Given the description of an element on the screen output the (x, y) to click on. 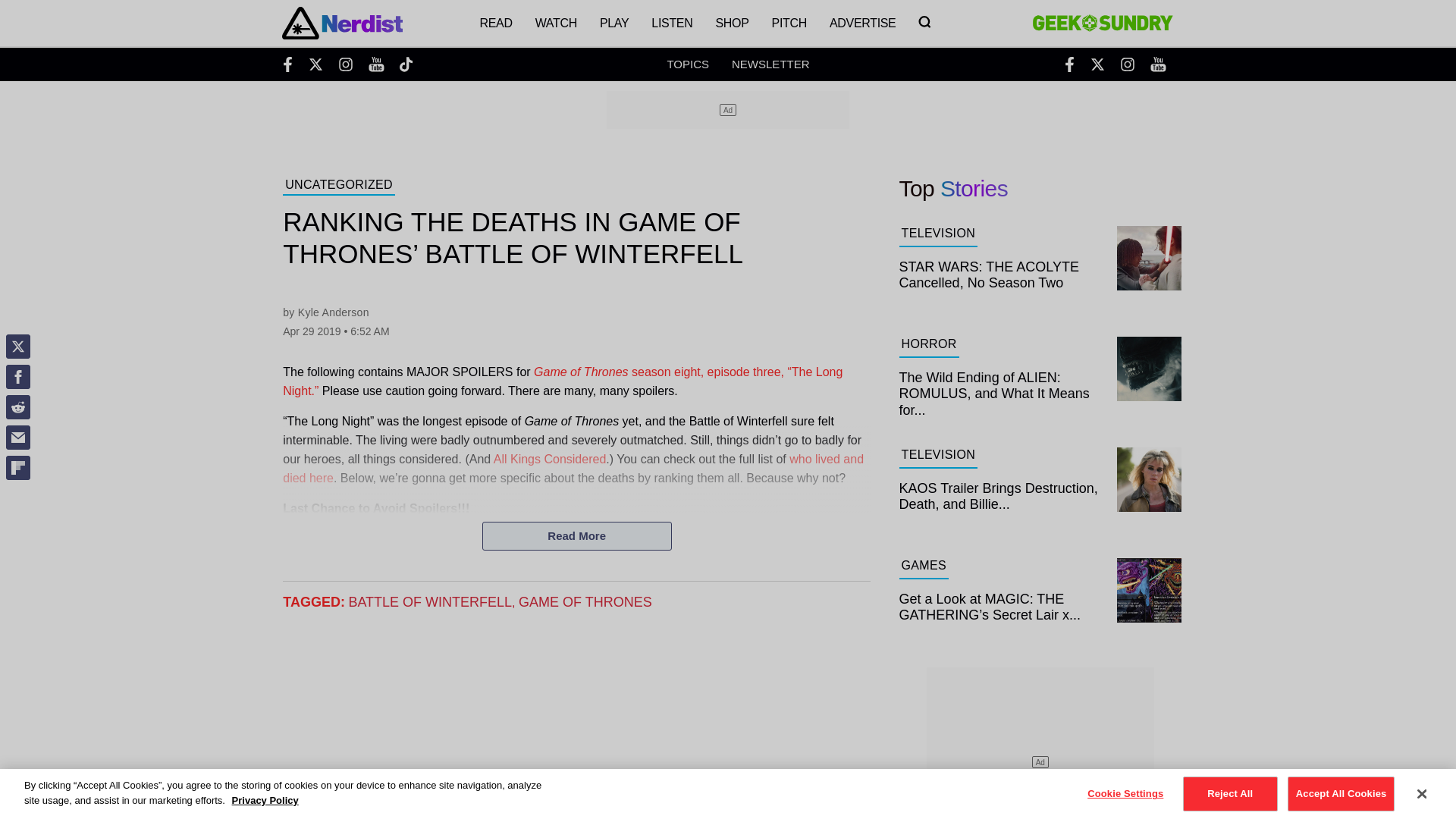
NEWSLETTER (770, 63)
Twitter Nerdist (315, 63)
PITCH (789, 22)
UNCATEGORIZED (338, 185)
Nerdist (342, 23)
Newsletter (770, 63)
LISTEN (671, 22)
Accept All Cookies (1340, 793)
Topics (687, 63)
LISTEN (671, 22)
